Given the description of an element on the screen output the (x, y) to click on. 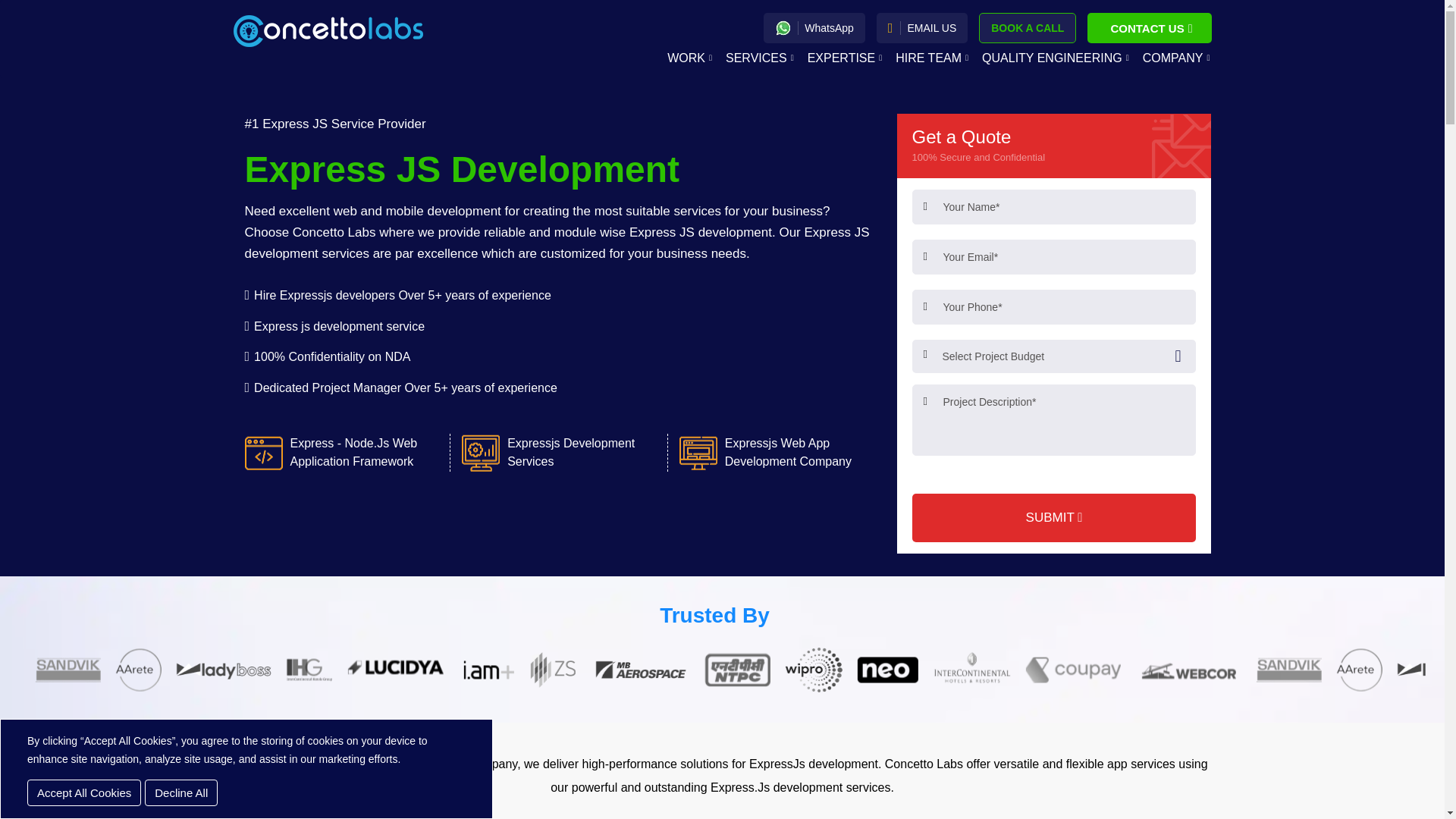
  WhatsApp (813, 28)
BOOK A CALL (1026, 28)
  EMAIL US (922, 28)
WORK (688, 60)
CONTACT US (1149, 28)
Concetto Labs (327, 30)
SERVICES (759, 60)
